Given the description of an element on the screen output the (x, y) to click on. 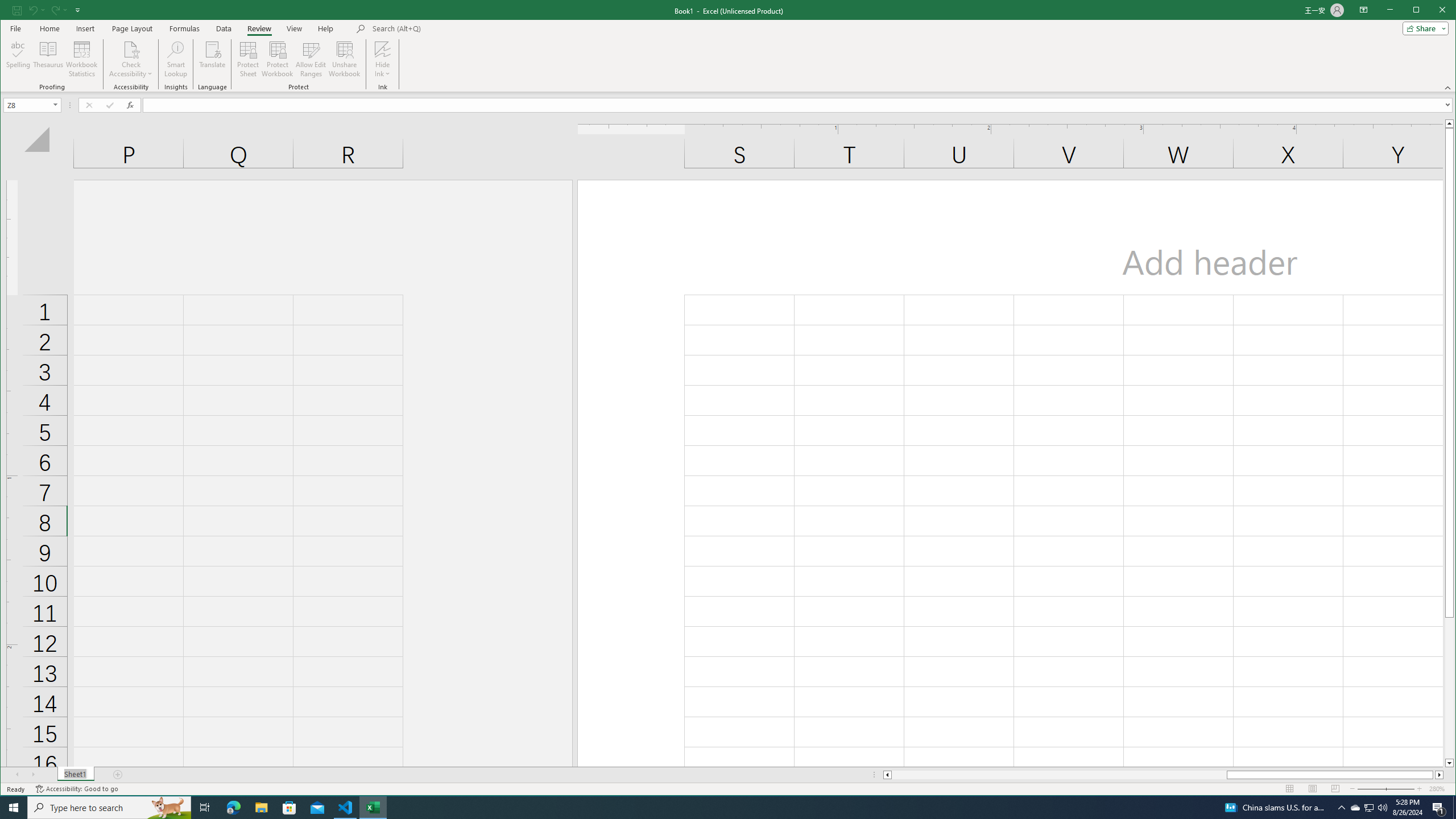
Sheet Tab (75, 774)
Zoom Out (1378, 788)
Line up (1355, 807)
Class: MsoCommandBar (1449, 122)
System (728, 45)
Insert (10, 10)
Open (85, 28)
Smart Lookup (55, 105)
Undo (176, 59)
Formulas (36, 9)
Undo (184, 28)
Ribbon Display Options (32, 9)
Microsoft search (1364, 9)
